Given the description of an element on the screen output the (x, y) to click on. 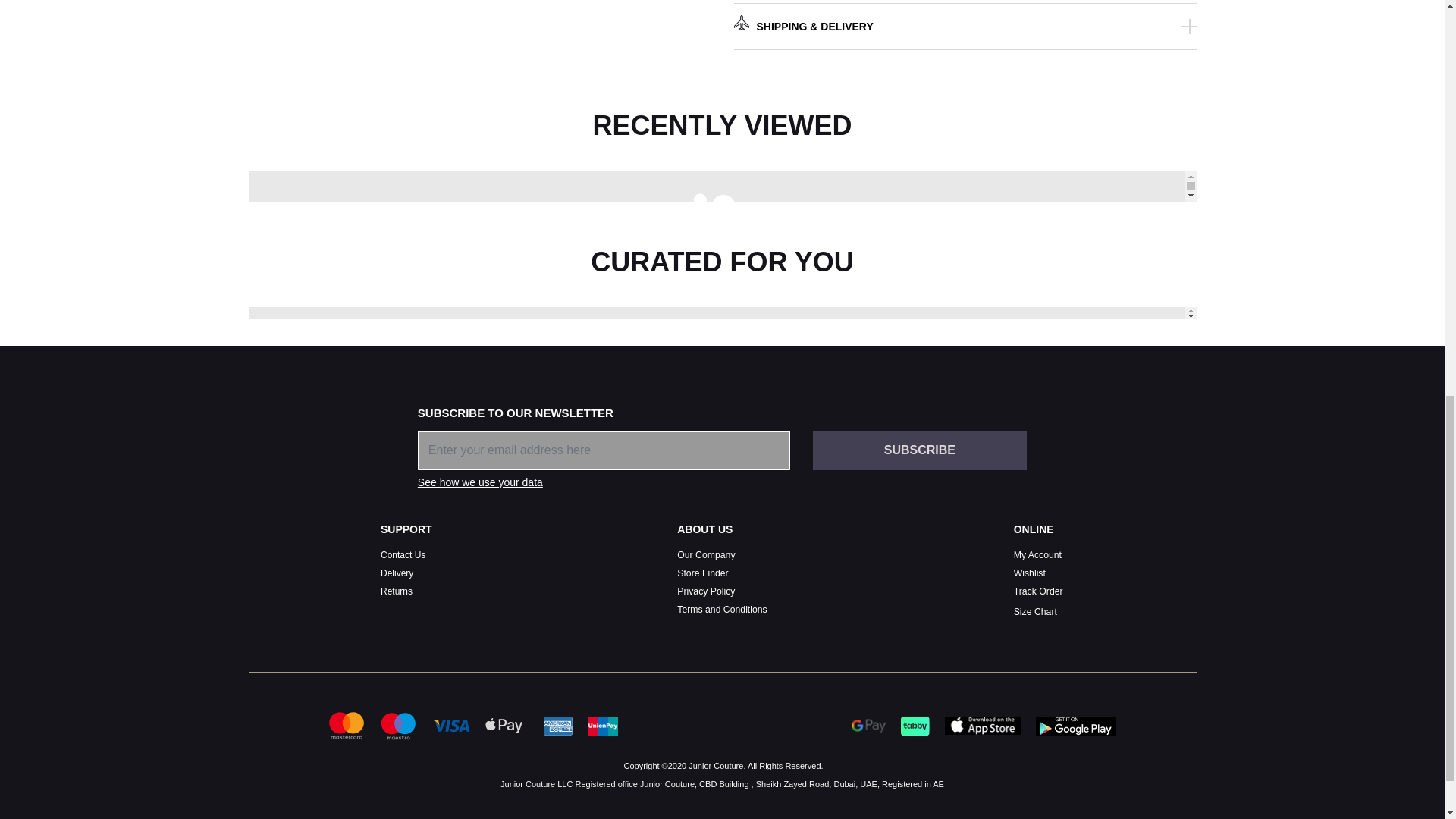
Go to Store Locator (702, 573)
Wishlist (1029, 573)
Go to Terms (722, 609)
Go to Our Company (706, 554)
Track Order (1037, 591)
Go to Privacy (706, 591)
My Account (1037, 554)
Go to Contact Us (402, 554)
